Given the description of an element on the screen output the (x, y) to click on. 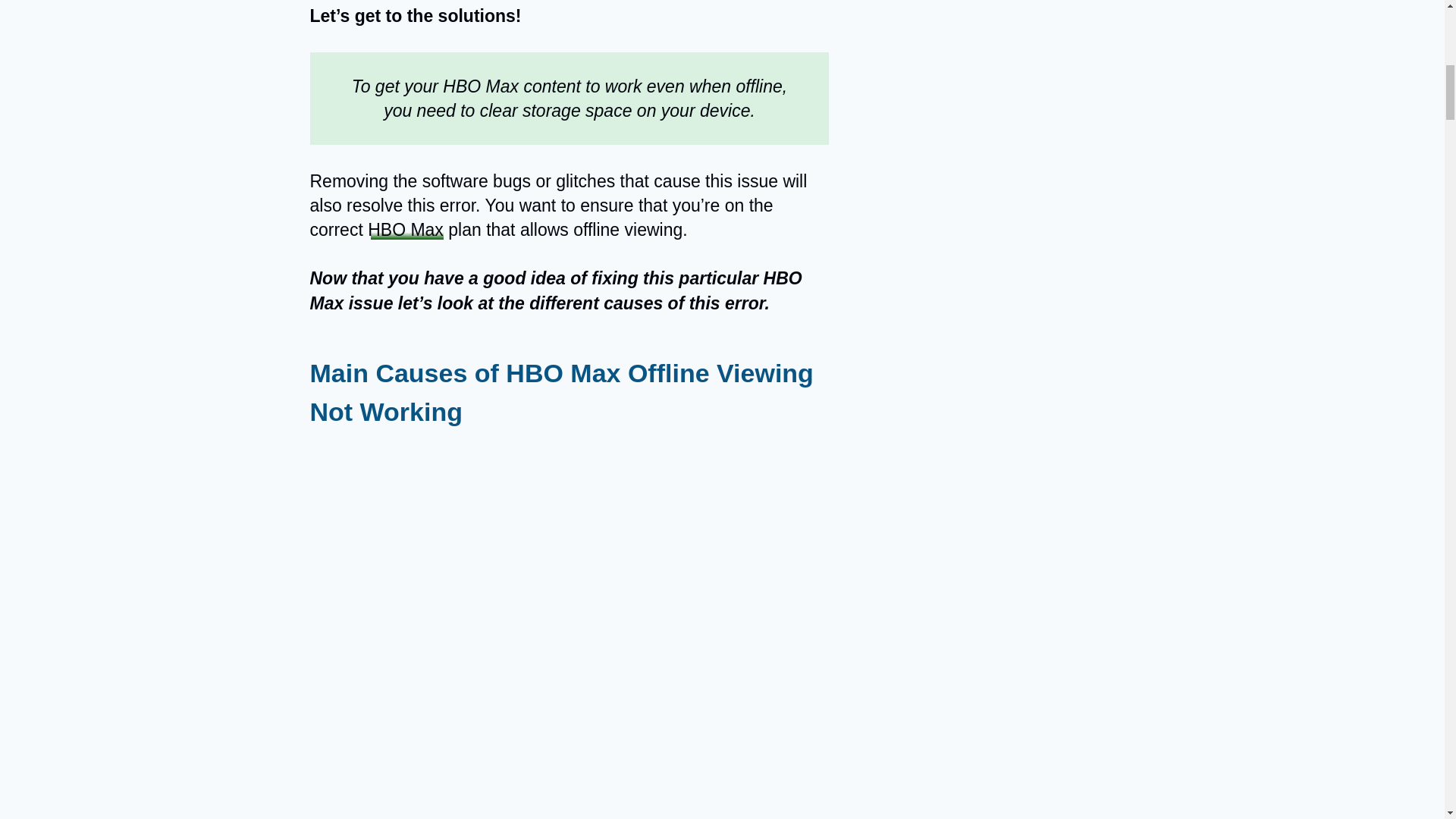
HBO Max (406, 229)
